Given the description of an element on the screen output the (x, y) to click on. 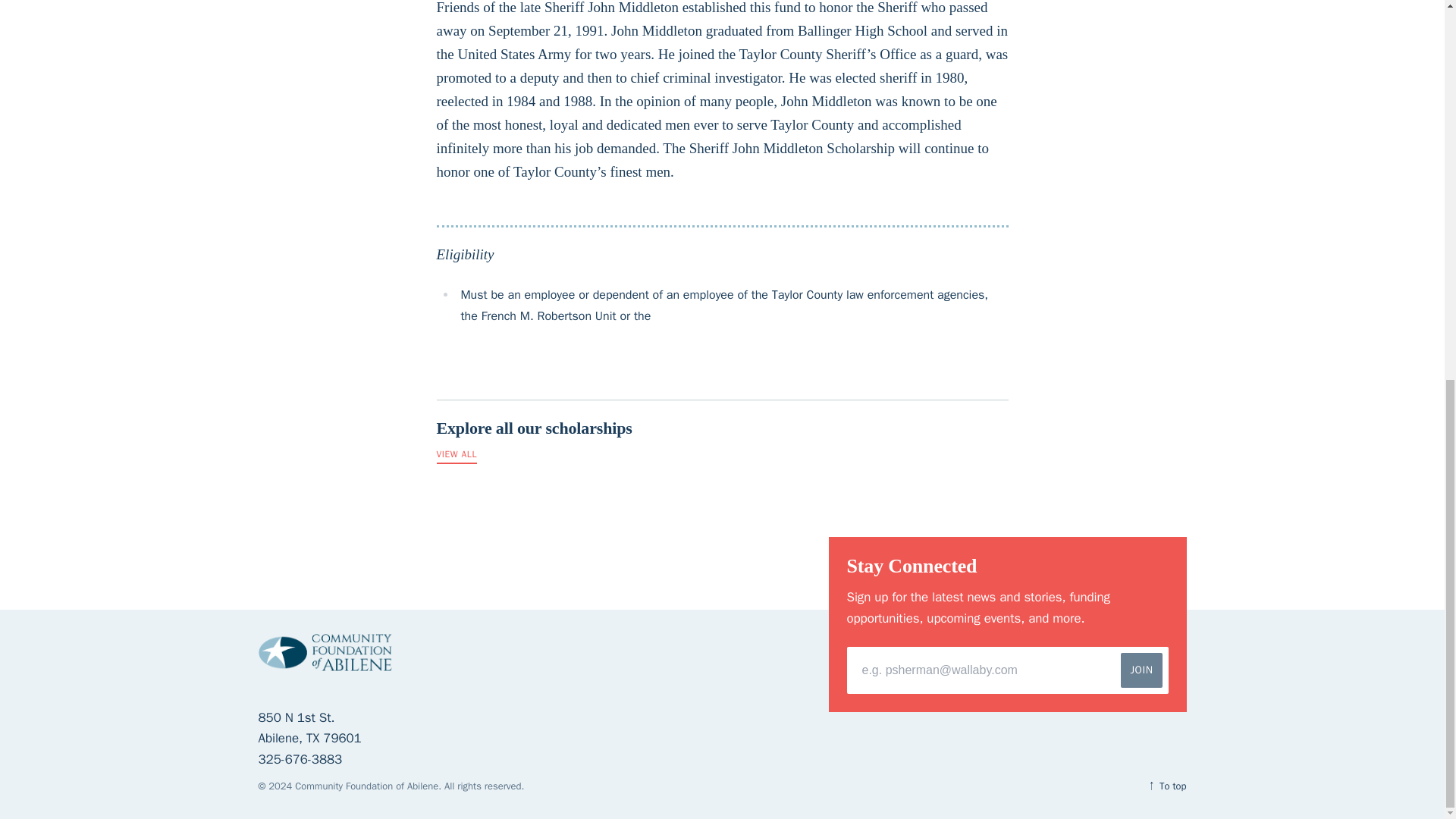
JOIN (1141, 669)
325-676-3883 (722, 431)
